Given the description of an element on the screen output the (x, y) to click on. 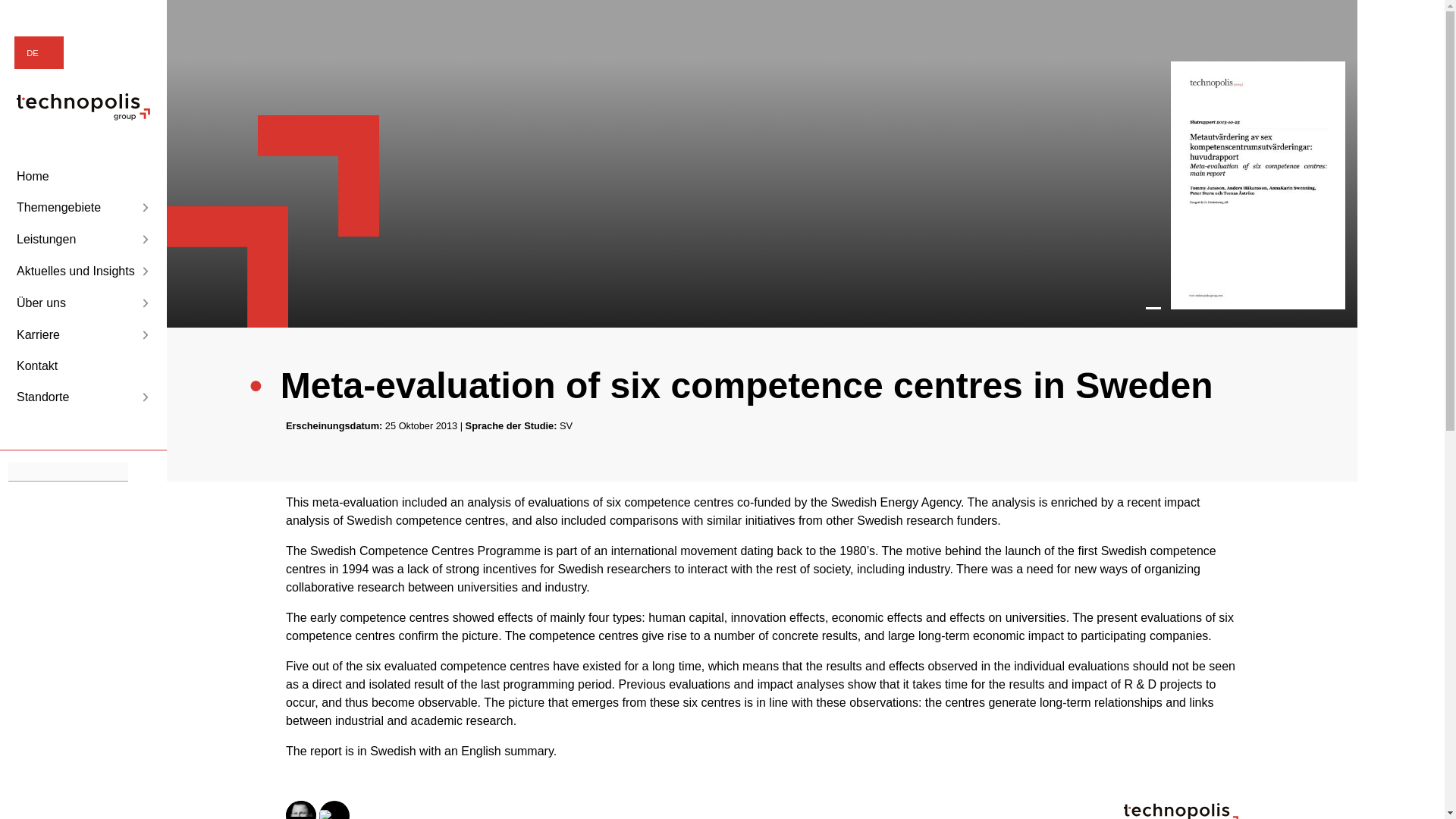
Themengebiete (82, 207)
DE (38, 53)
Technopolis Group (82, 106)
Karriere (82, 334)
DE (38, 53)
Home (82, 176)
Leistungen (82, 239)
Twitter (1331, 19)
technopolis (82, 115)
LinkedIn (1304, 19)
Aktuelles und Insights (82, 271)
